Given the description of an element on the screen output the (x, y) to click on. 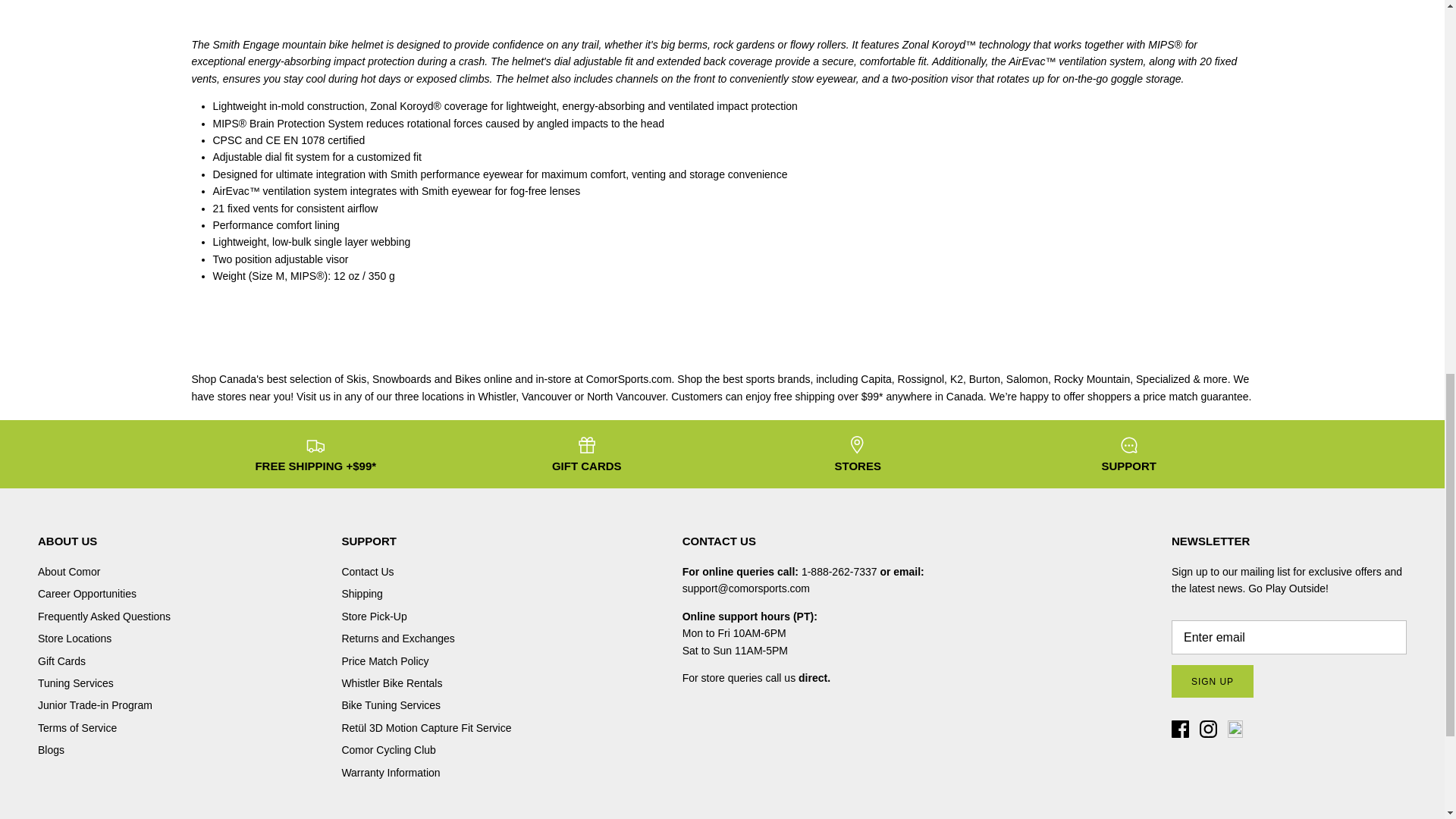
Locations (813, 677)
tel:1-888-262-7337 (839, 571)
Instagram (1208, 728)
Facebook (1180, 728)
